Given the description of an element on the screen output the (x, y) to click on. 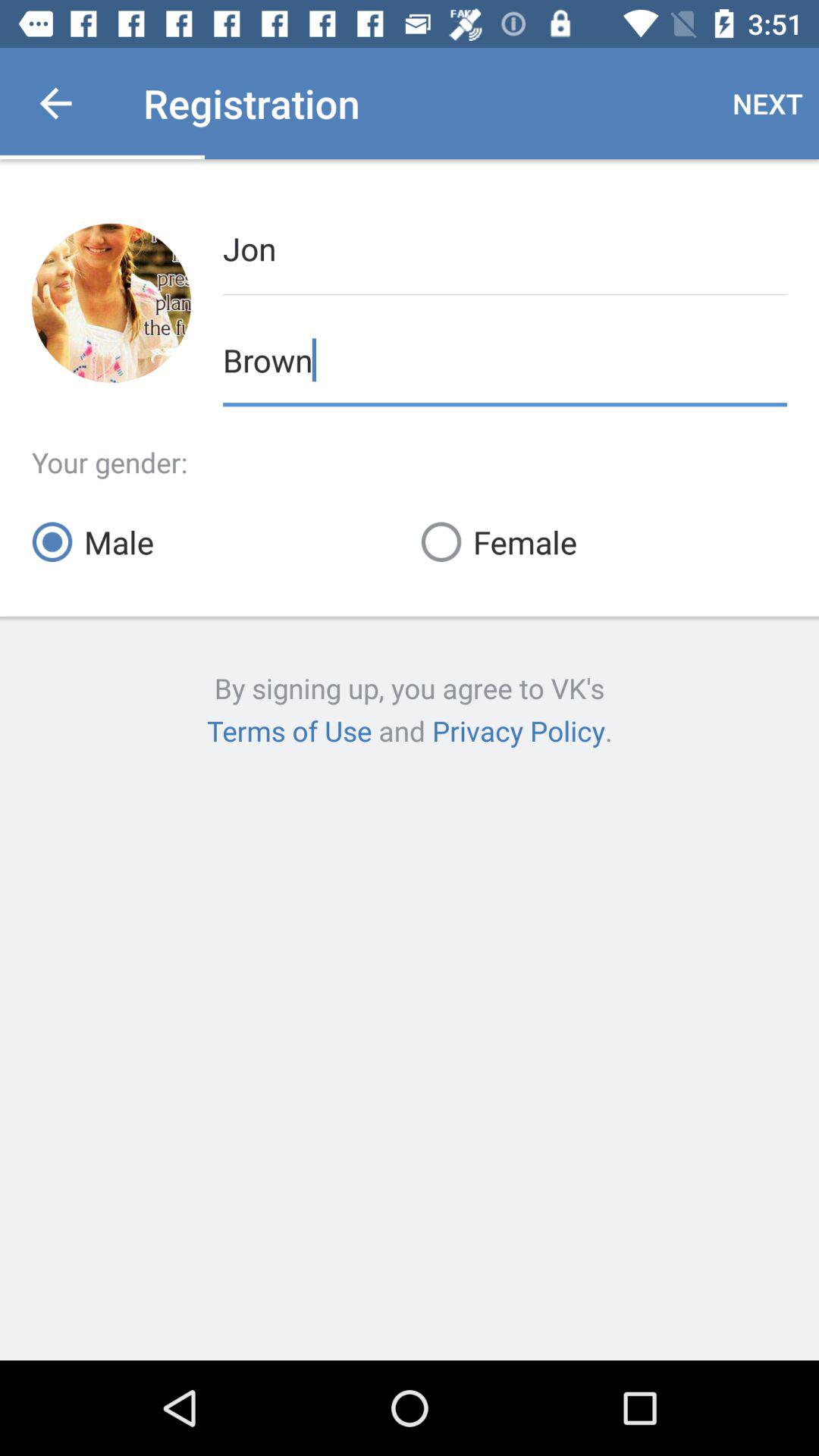
open the item above brown (504, 247)
